Given the description of an element on the screen output the (x, y) to click on. 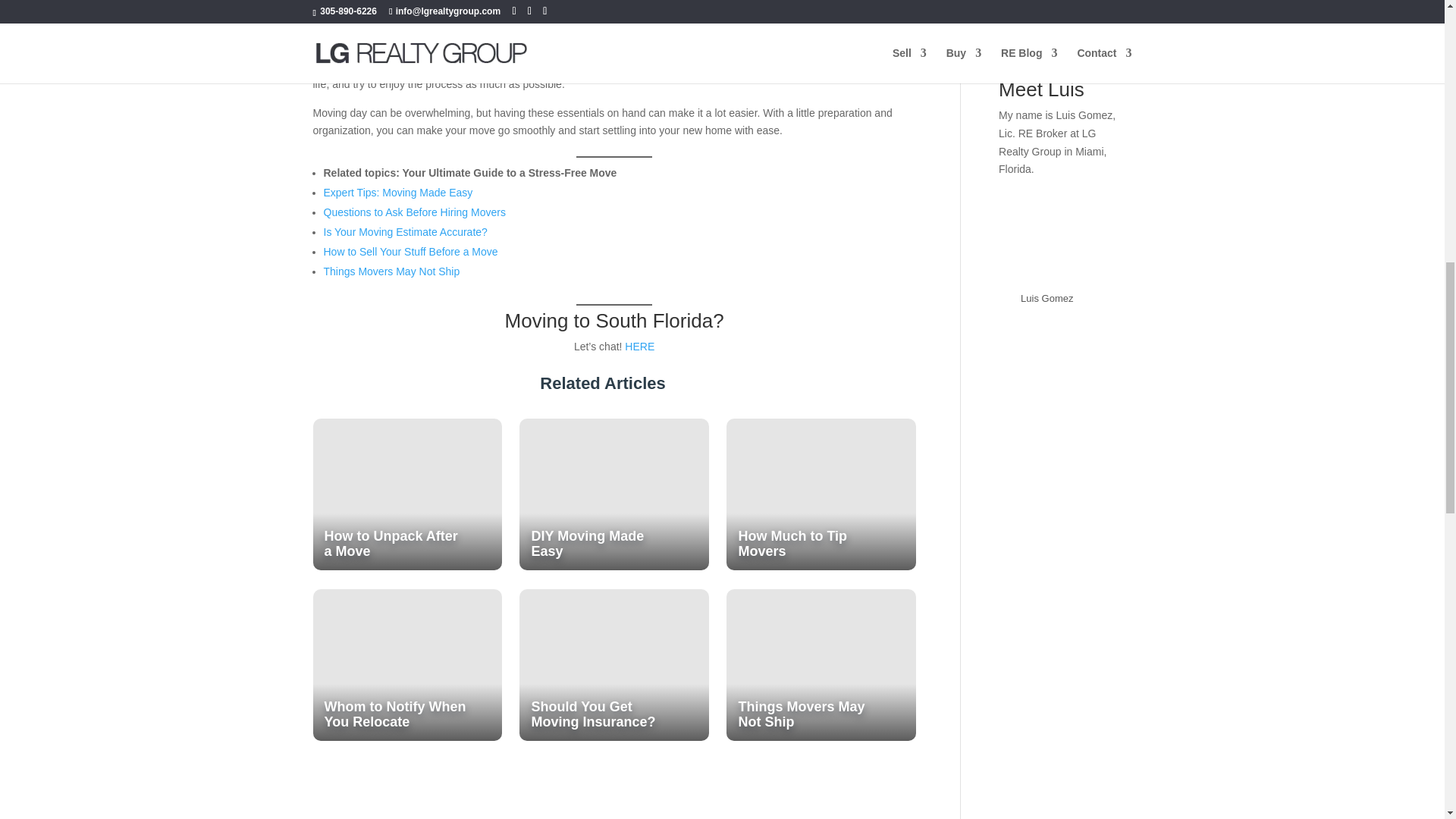
DIY Moving Made Easy (613, 494)
How Much to Tip Movers (820, 494)
Whom to Notify When You Relocate (406, 664)
Expert Tips: Moving Made Easy (397, 192)
Things Movers May Not Ship (391, 271)
Is Your Moving Estimate Accurate? (404, 232)
How to Sell Your Stuff Before a Move (410, 251)
Should You Get Moving Insurance? (613, 664)
Questions to Ask Before Hiring Movers (414, 212)
Things Movers May Not Ship (820, 664)
How to Unpack After a Move (406, 494)
